Given the description of an element on the screen output the (x, y) to click on. 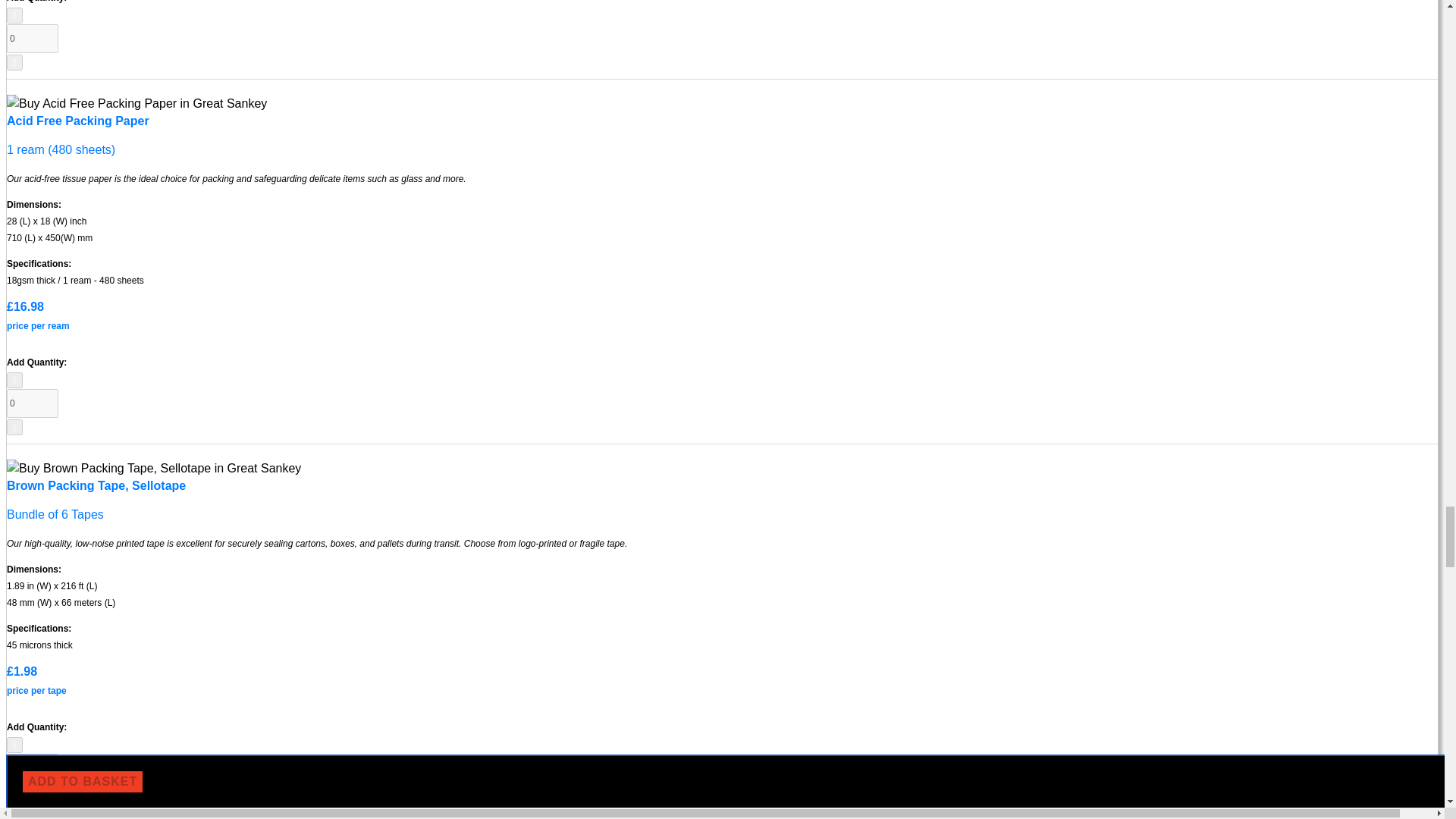
0 (32, 38)
0 (32, 403)
0 (32, 767)
